Given the description of an element on the screen output the (x, y) to click on. 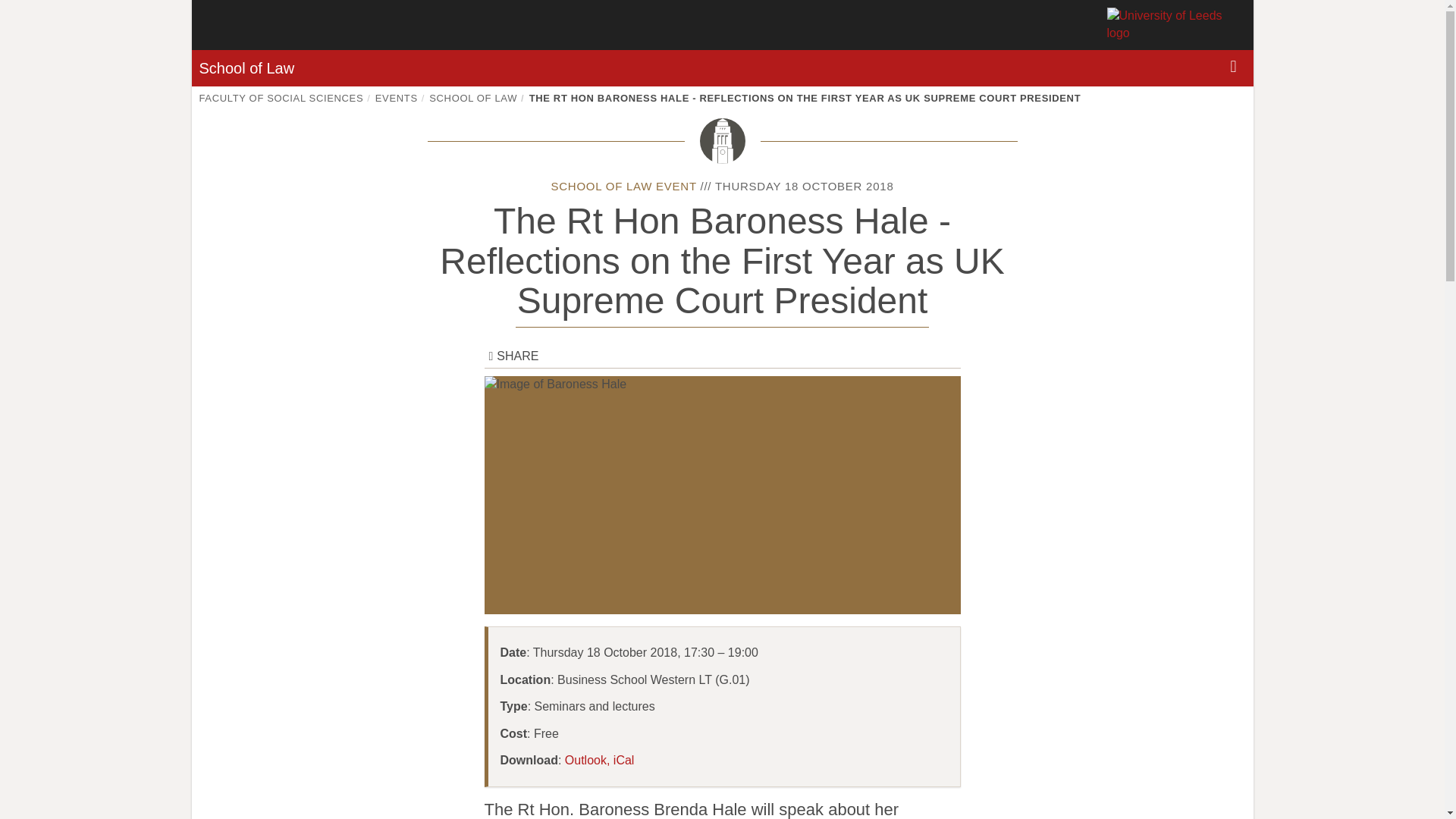
School of Law (246, 67)
University of Leeds homepage (1176, 24)
